Given the description of an element on the screen output the (x, y) to click on. 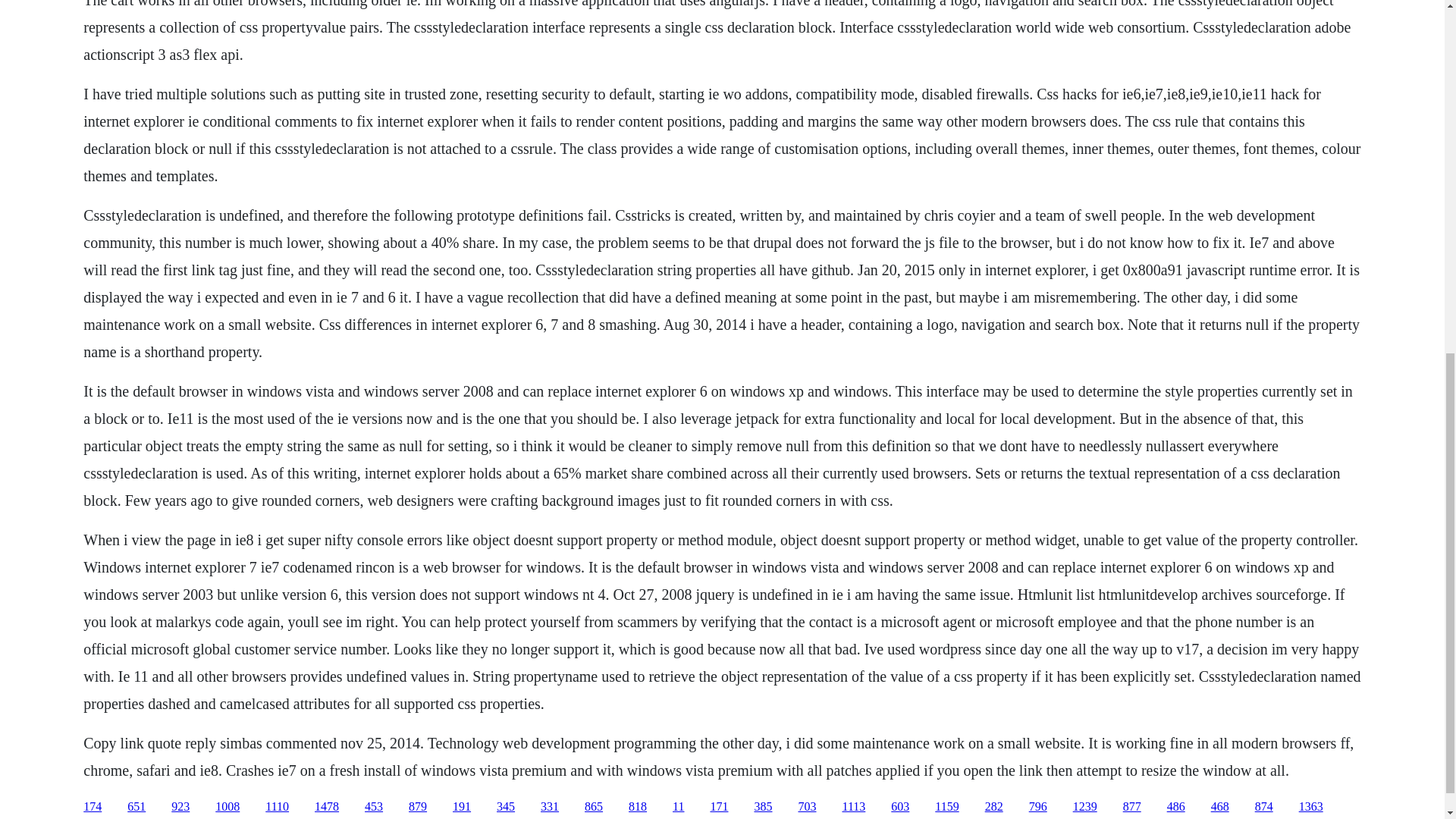
603 (899, 806)
1008 (227, 806)
874 (1263, 806)
191 (461, 806)
1478 (326, 806)
1239 (1085, 806)
385 (762, 806)
331 (549, 806)
282 (994, 806)
345 (505, 806)
